Given the description of an element on the screen output the (x, y) to click on. 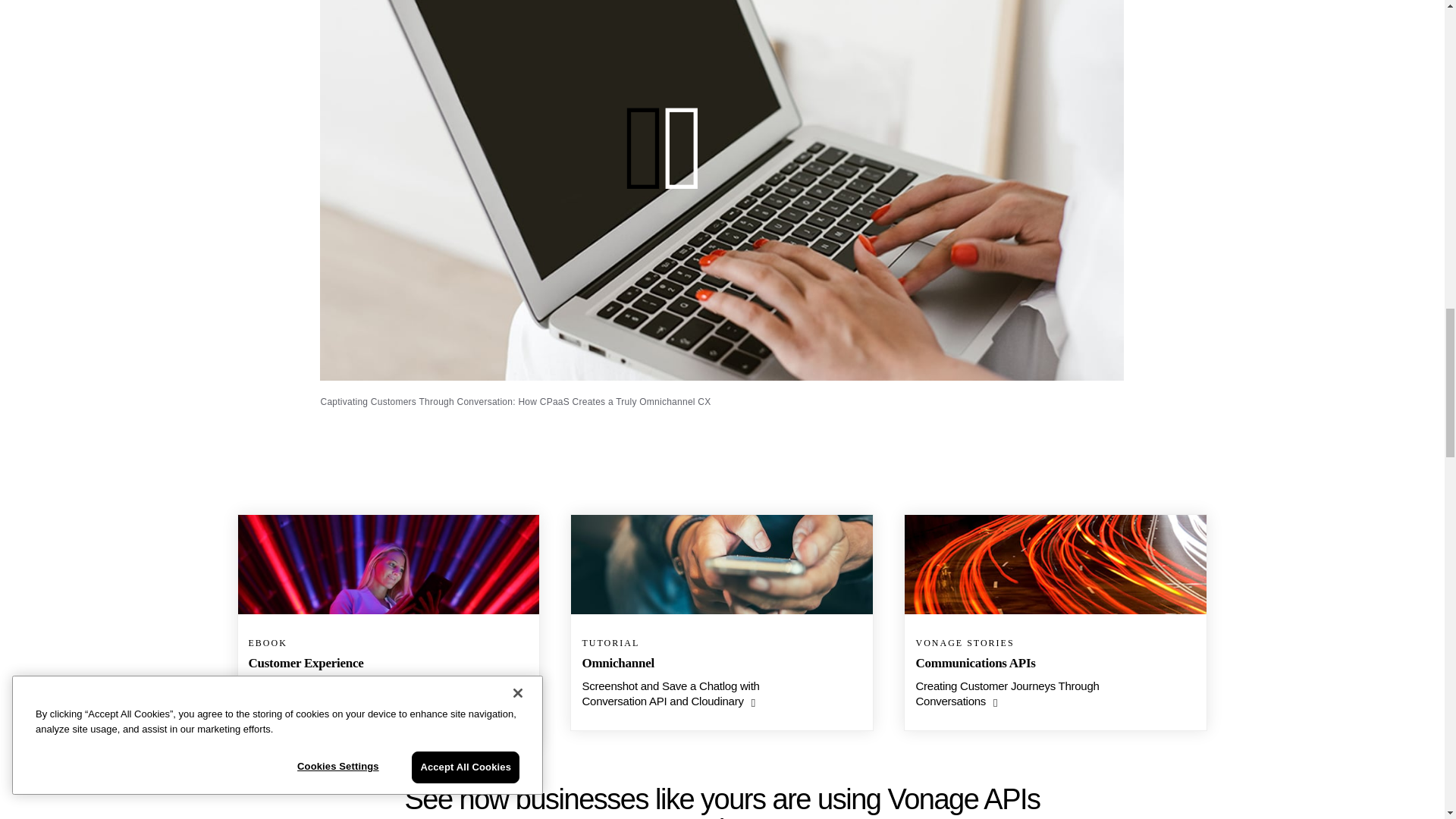
Man Using Mobile Phone (721, 564)
